Given the description of an element on the screen output the (x, y) to click on. 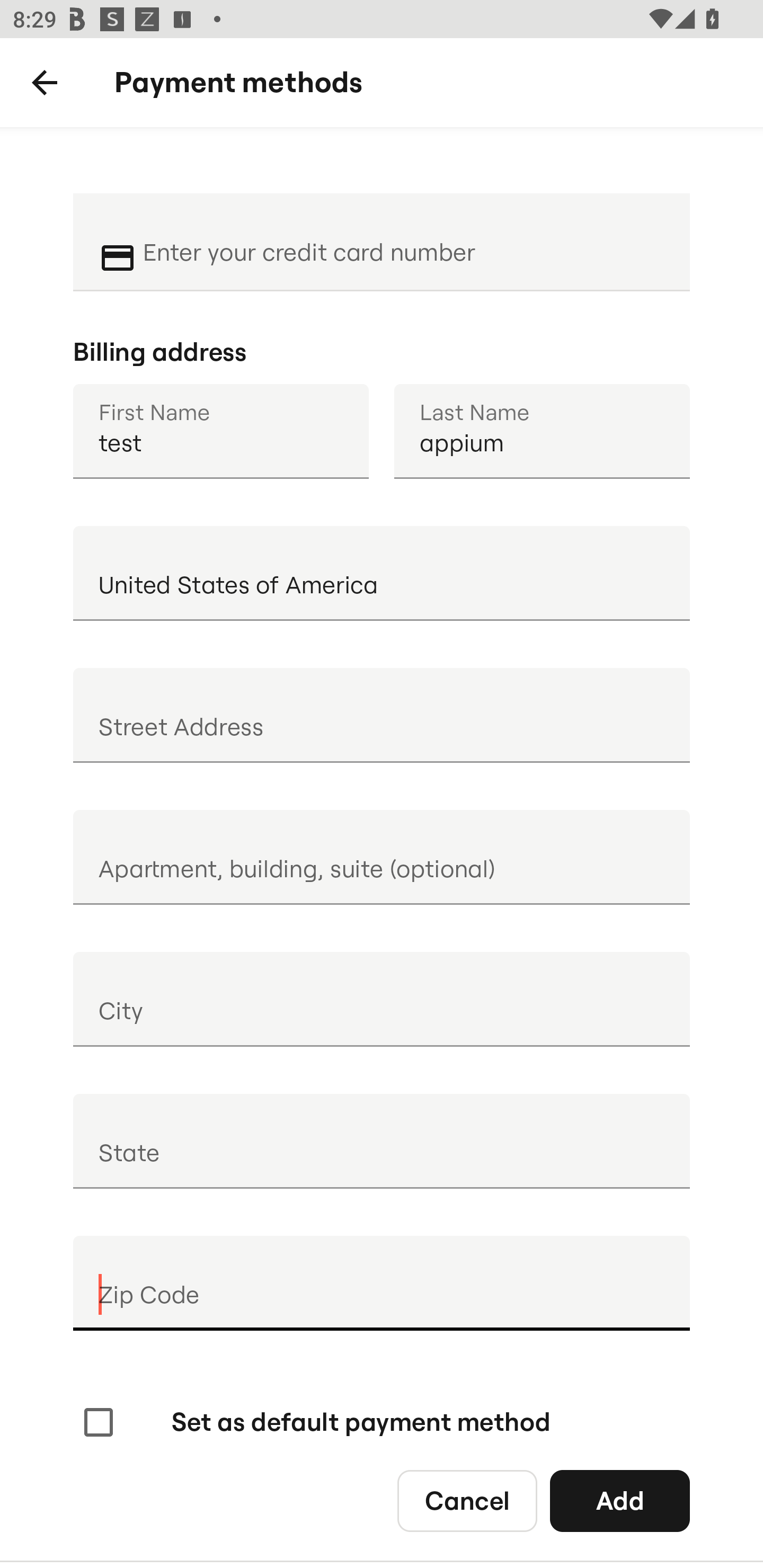
Back (44, 82)
Enter your credit card number (403, 240)
test (220, 431)
appium (541, 431)
United States of America (381, 572)
Street Address (381, 714)
Apartment, building, suite (optional) (381, 857)
City (381, 999)
State (381, 1141)
Zip Code (381, 1283)
Set as default payment method (314, 1421)
Cancel (467, 1500)
Add (619, 1500)
